Given the description of an element on the screen output the (x, y) to click on. 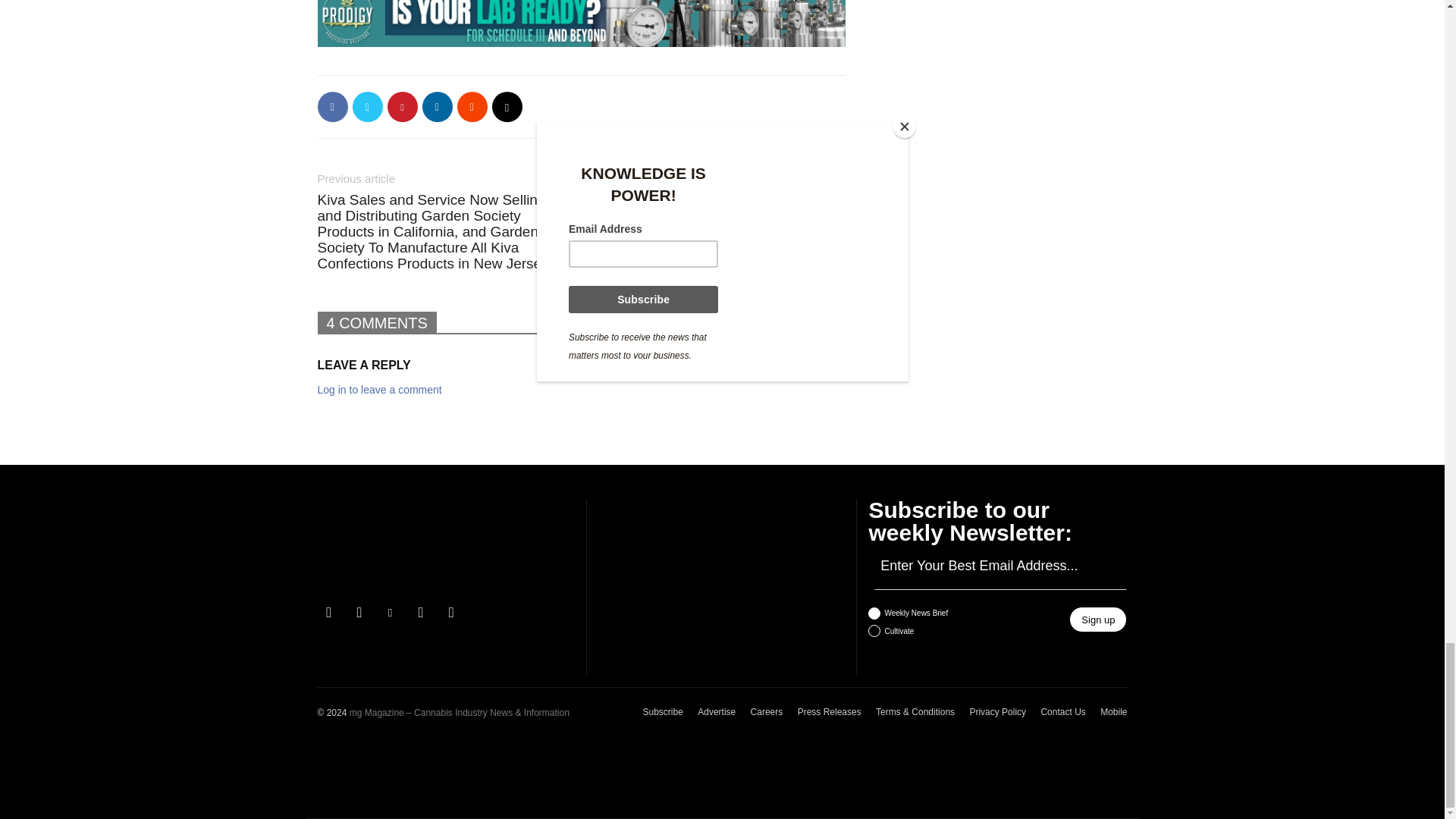
Sign up (1097, 619)
4e09f133bb (873, 630)
da0bdb1624 (873, 613)
